Given the description of an element on the screen output the (x, y) to click on. 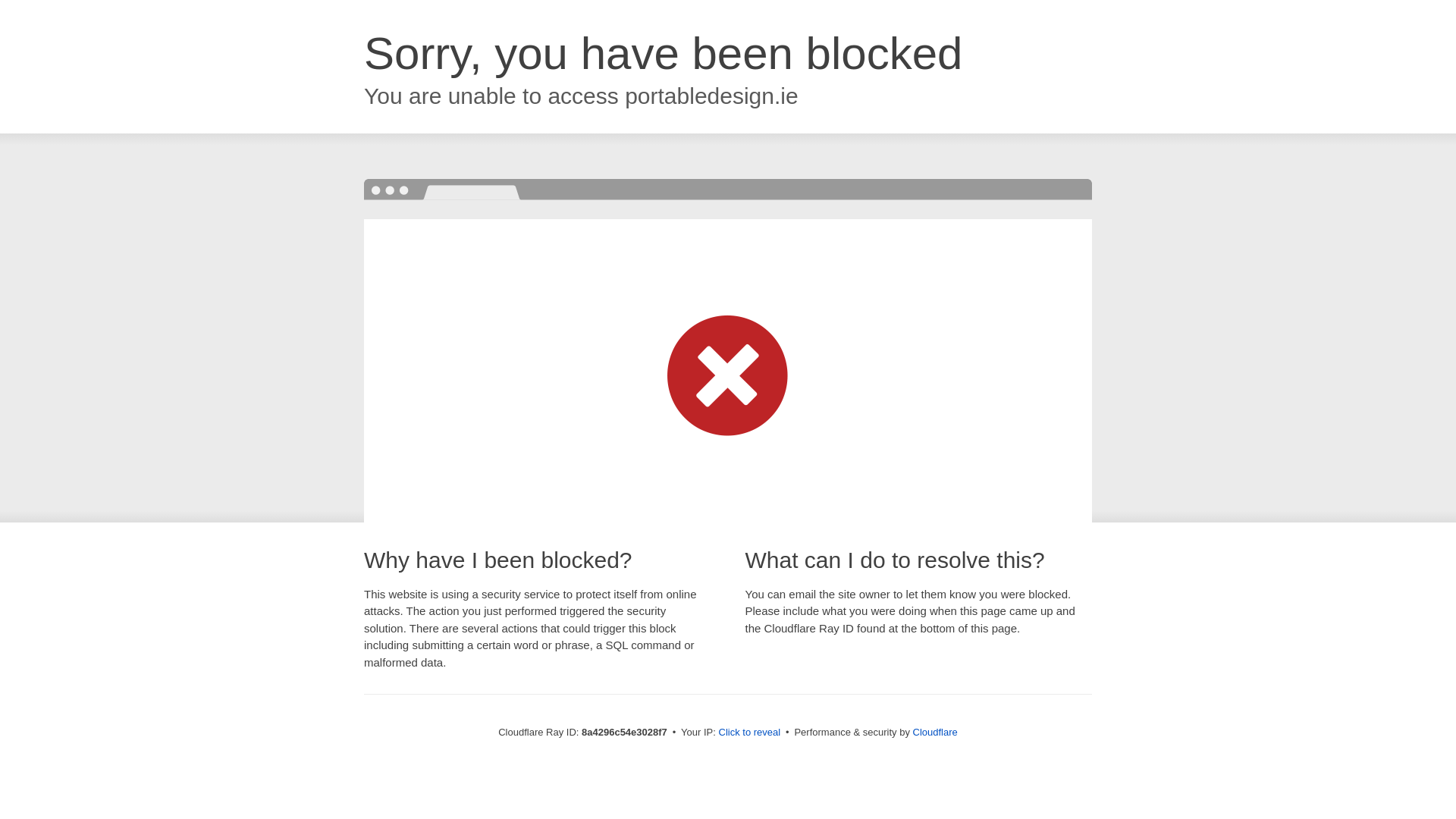
Cloudflare (935, 731)
Click to reveal (749, 732)
